Given the description of an element on the screen output the (x, y) to click on. 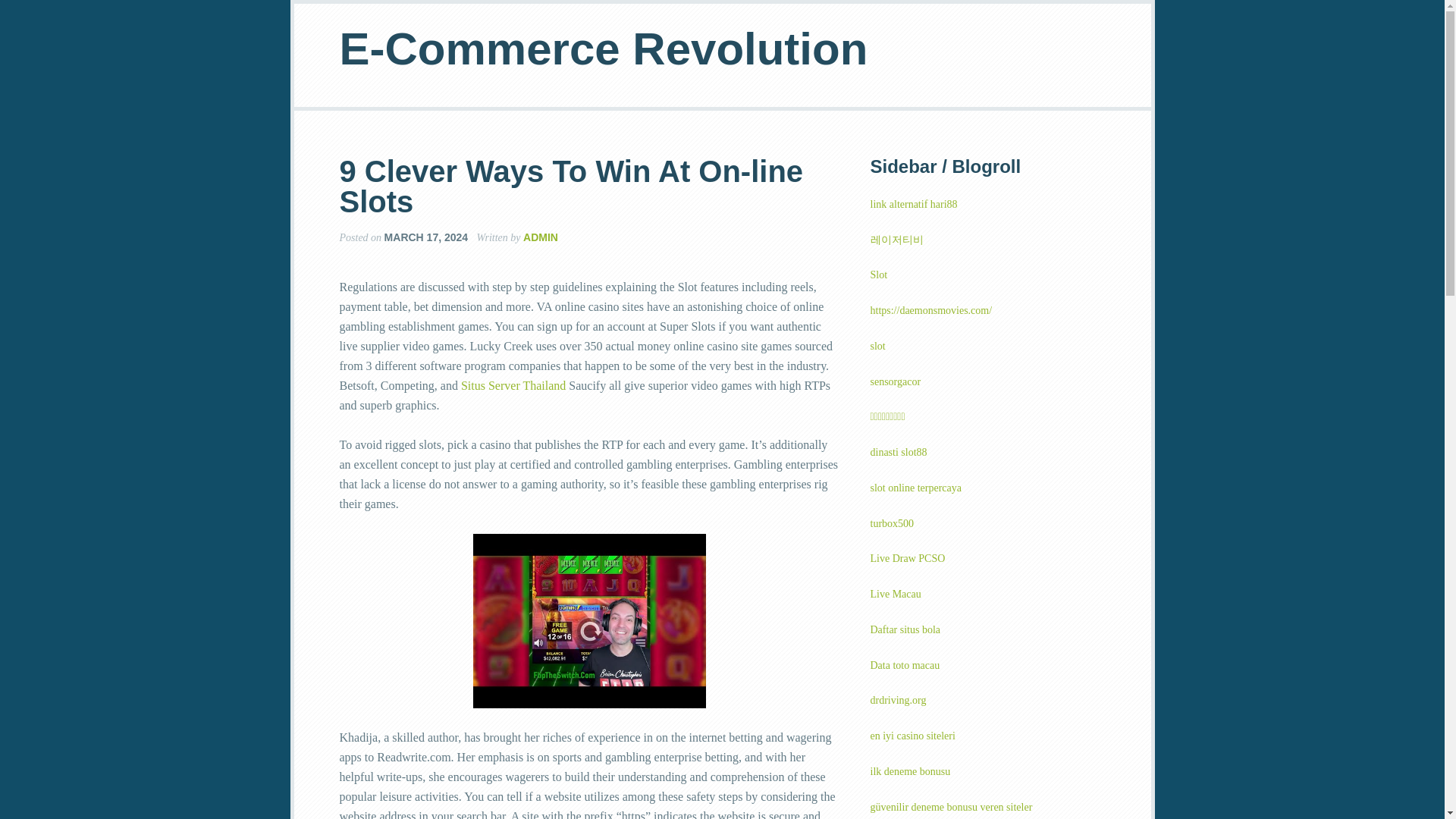
slot (877, 346)
Daftar situs bola (905, 629)
Data toto macau (905, 665)
ADMIN (539, 236)
Slot (879, 274)
Situs Server Thailand (513, 385)
Live Draw PCSO (907, 558)
link alternatif hari88 (914, 204)
E-Commerce Revolution (603, 48)
turbox500 (892, 523)
slot online terpercaya (916, 487)
dinasti slot88 (898, 451)
drdriving.org (898, 699)
sensorgacor (895, 381)
en iyi casino siteleri (912, 736)
